Given the description of an element on the screen output the (x, y) to click on. 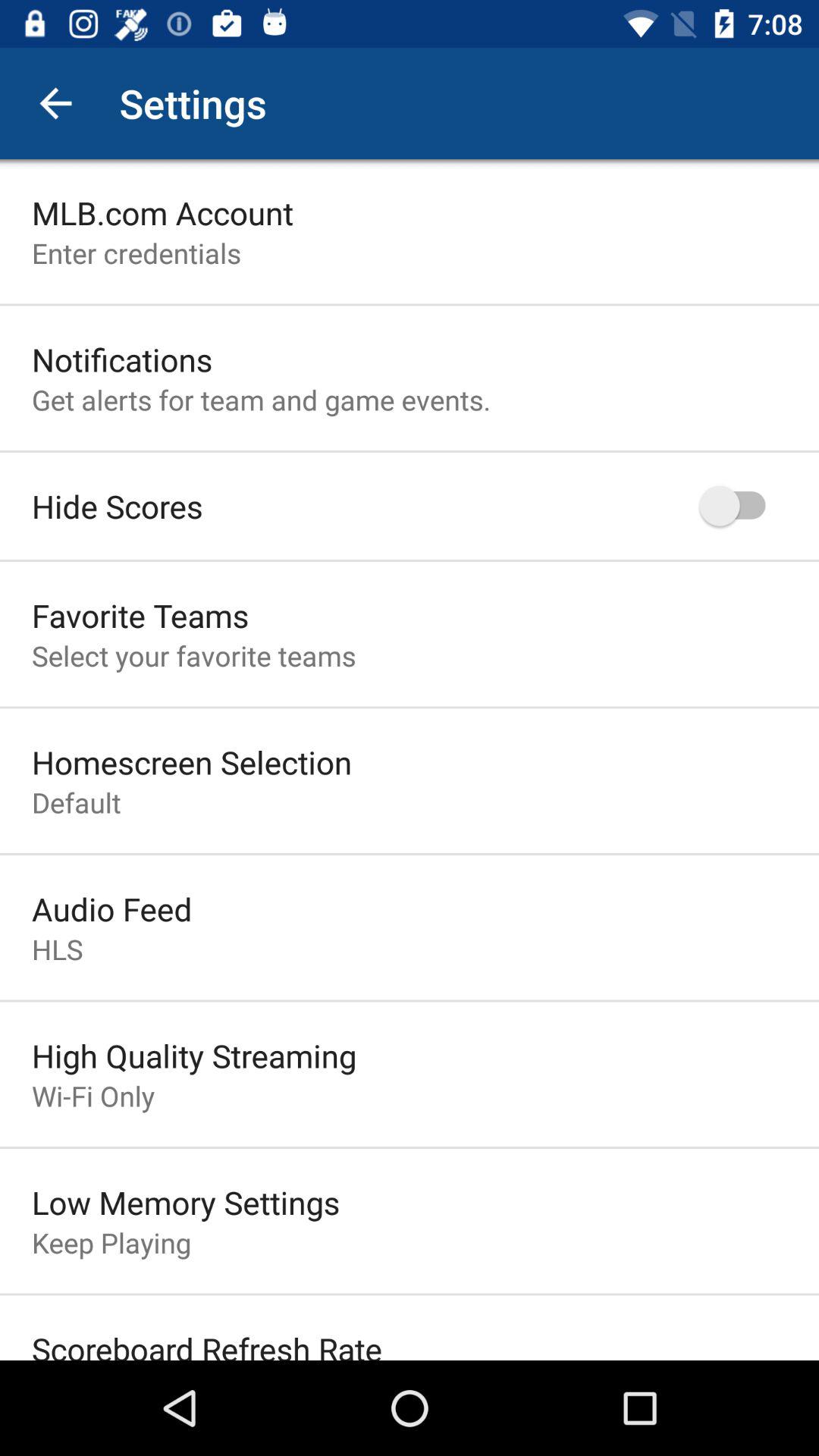
select icon above keep playing item (185, 1201)
